Given the description of an element on the screen output the (x, y) to click on. 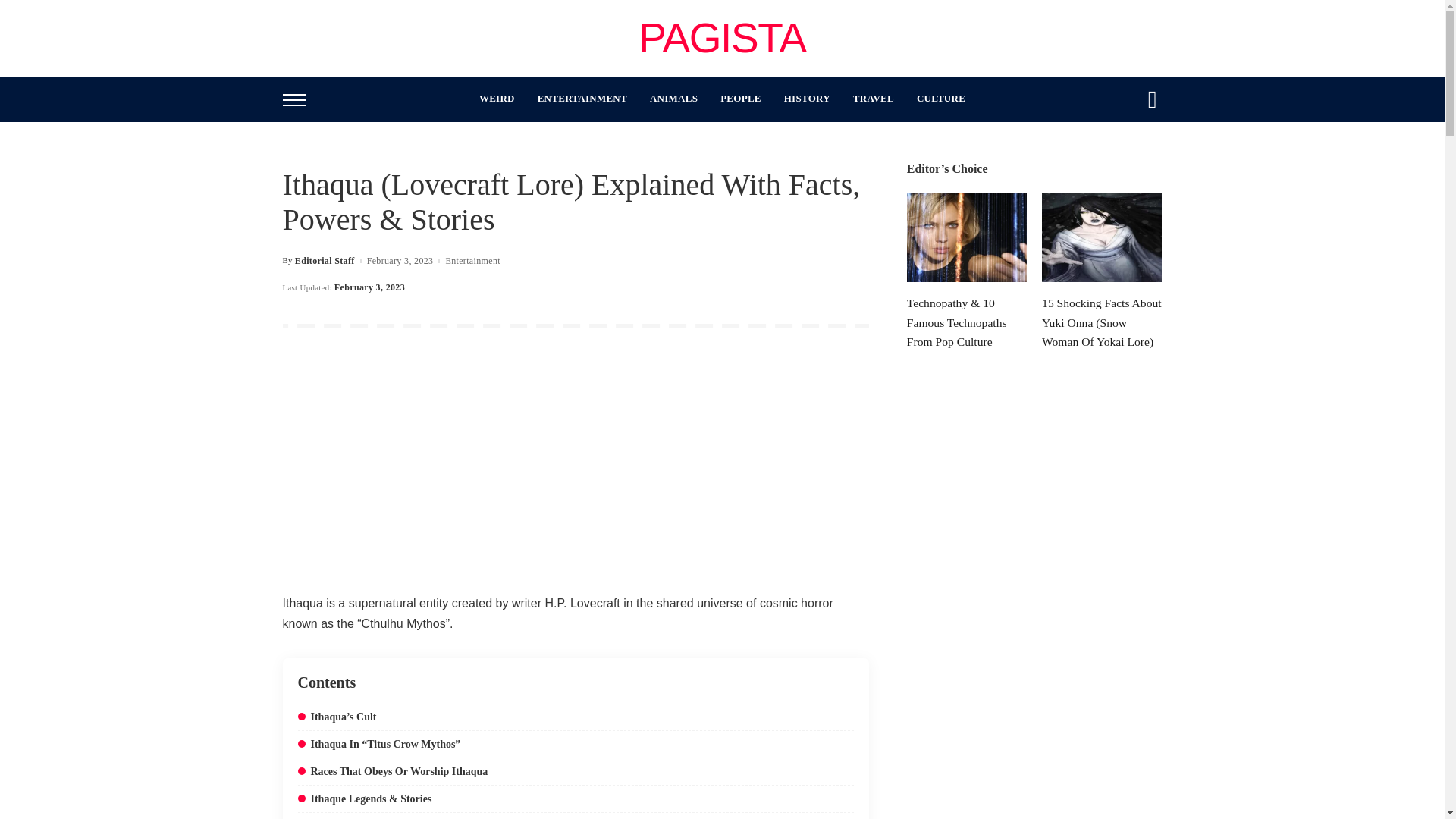
CULTURE (940, 98)
Search (1140, 142)
Races That Obeys Or Worship Ithaqua  (393, 771)
PEOPLE (741, 98)
Pagista (722, 37)
ENTERTAINMENT (582, 98)
ANIMALS (674, 98)
HISTORY (807, 98)
PAGISTA (722, 37)
Entertainment (472, 260)
